Given the description of an element on the screen output the (x, y) to click on. 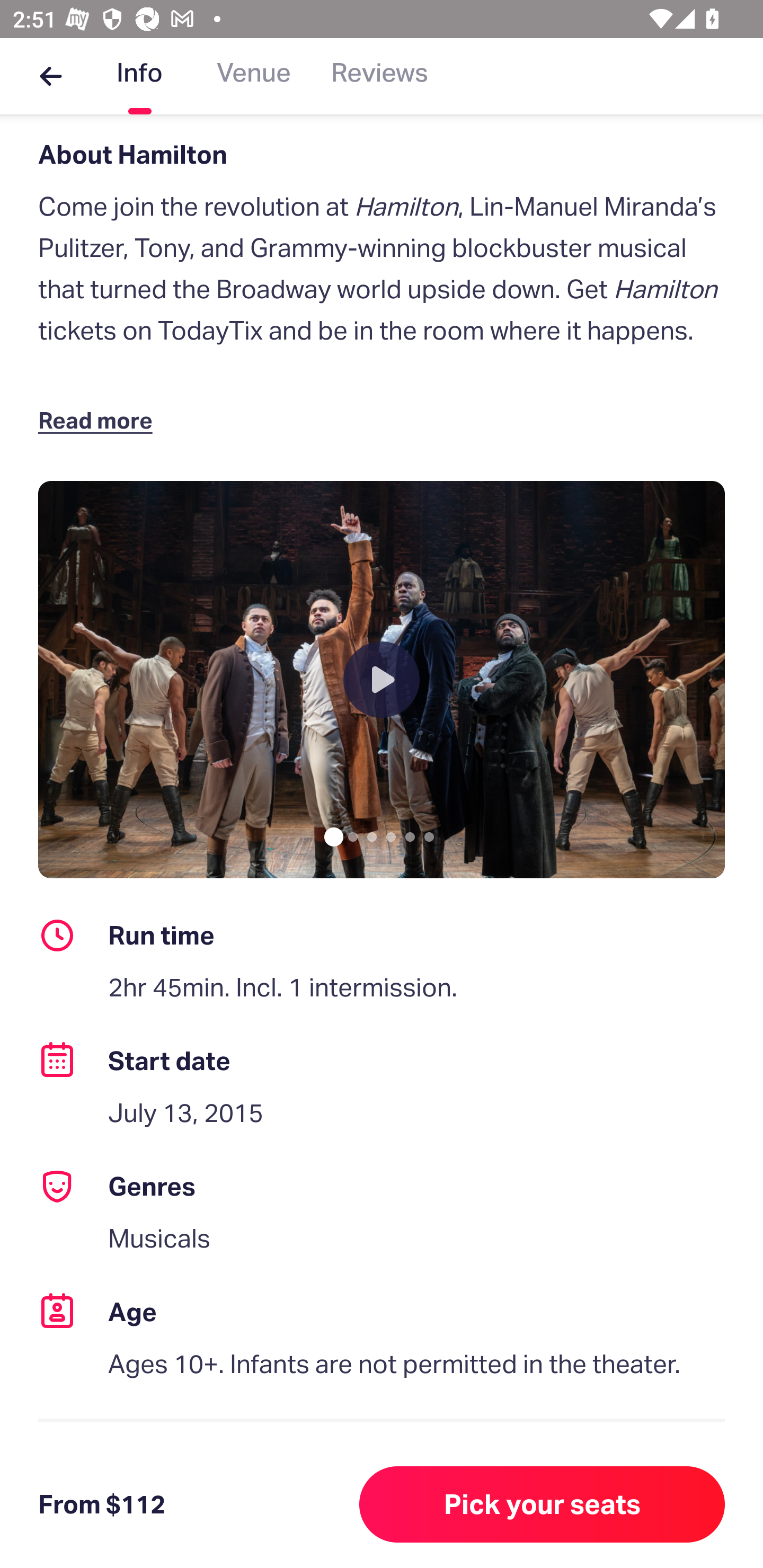
Venue (253, 75)
Reviews (379, 75)
About Hamilton (381, 153)
Read more (99, 419)
Pick your seats (541, 1504)
